Given the description of an element on the screen output the (x, y) to click on. 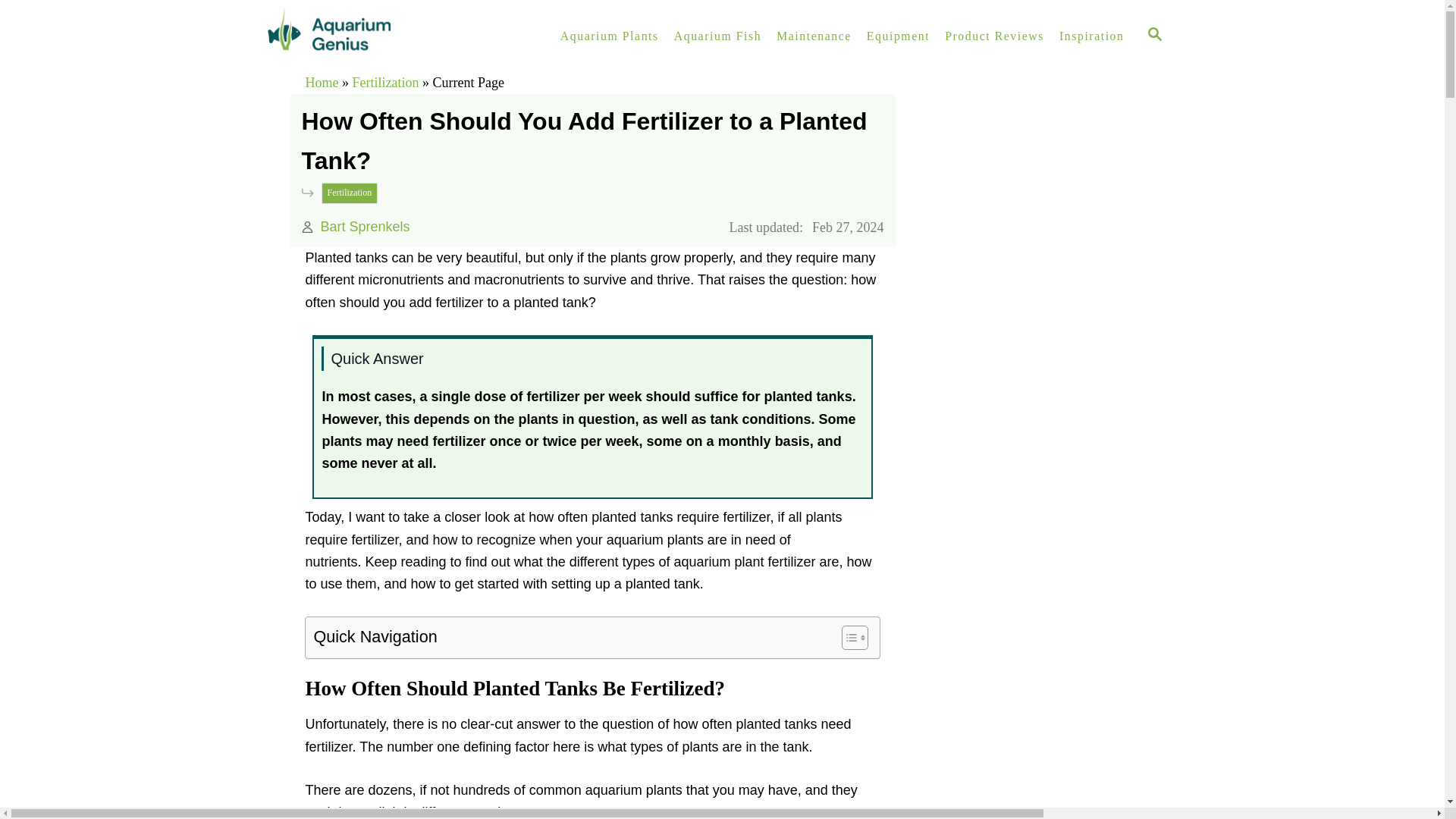
Maintenance (813, 36)
Aquarium Fish (717, 36)
Aquarium Genius (394, 36)
Product Reviews (994, 36)
Equipment (898, 36)
SEARCH (1154, 35)
Aquarium Plants (609, 36)
